Given the description of an element on the screen output the (x, y) to click on. 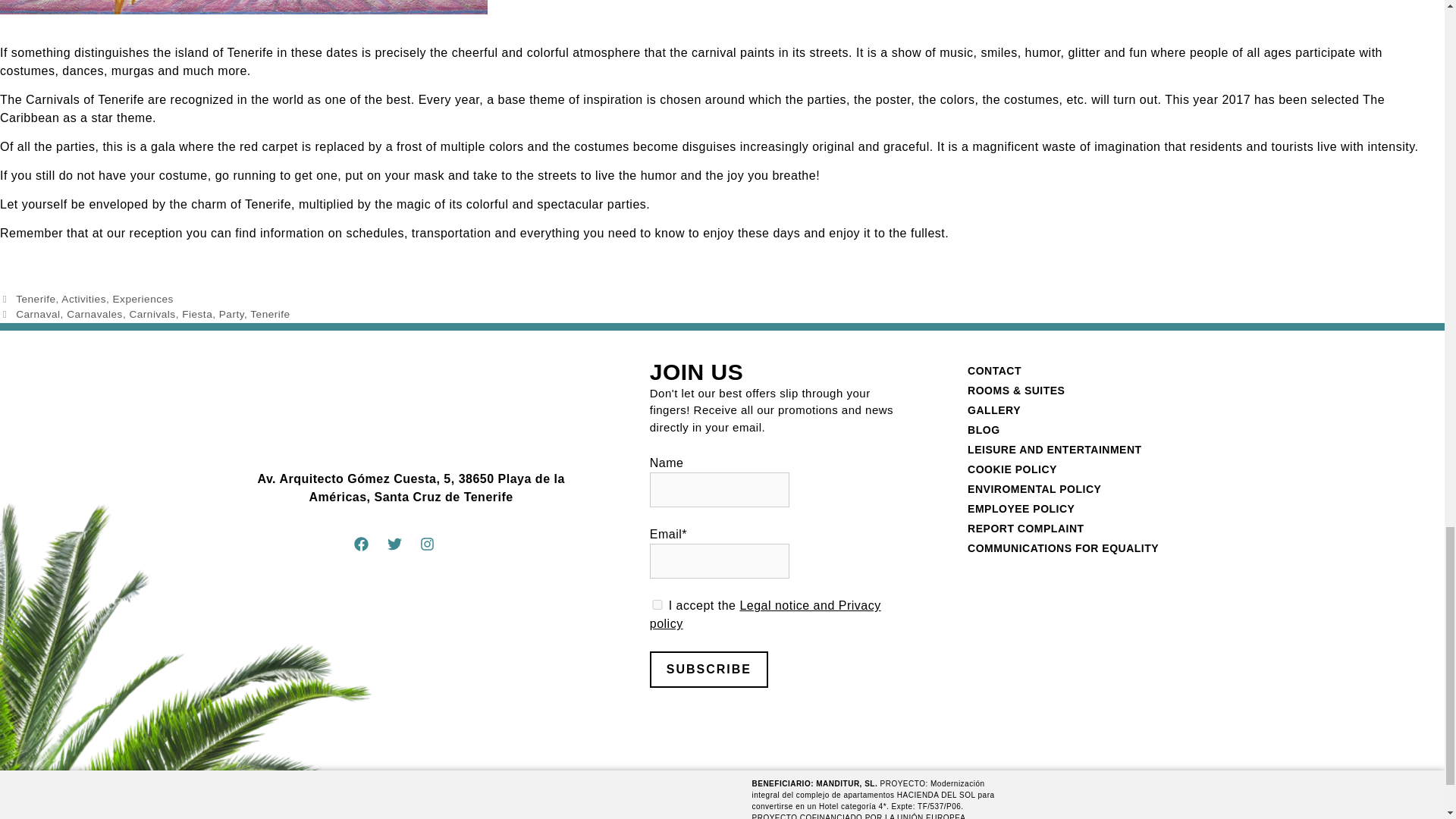
BLOG (1098, 429)
Activities (83, 298)
LEISURE AND ENTERTAINMENT (1098, 449)
Carnaval (37, 314)
SUBSCRIBE (708, 669)
Tenerife (269, 314)
GALLERY (1098, 410)
Legal notice and Privacy policy (764, 613)
Fiesta (197, 314)
Experiences (143, 298)
Party (231, 314)
CONTACT (1098, 370)
Tenerife (35, 298)
Carnavales (94, 314)
on (657, 604)
